Given the description of an element on the screen output the (x, y) to click on. 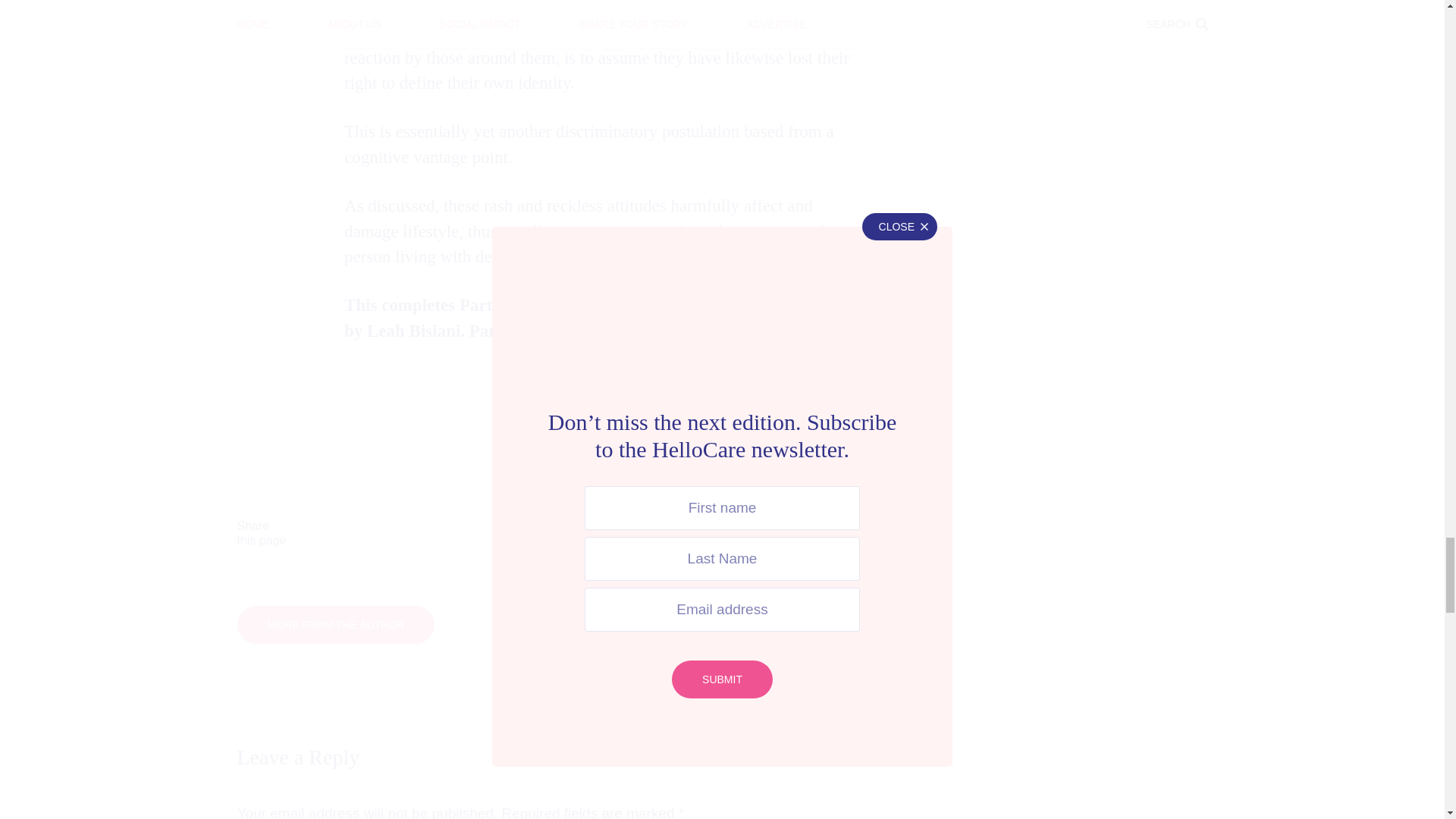
Share via Email (792, 533)
Share on linkedIn (652, 533)
Share on Facebook (372, 533)
Share on Twitter (512, 533)
